Given the description of an element on the screen output the (x, y) to click on. 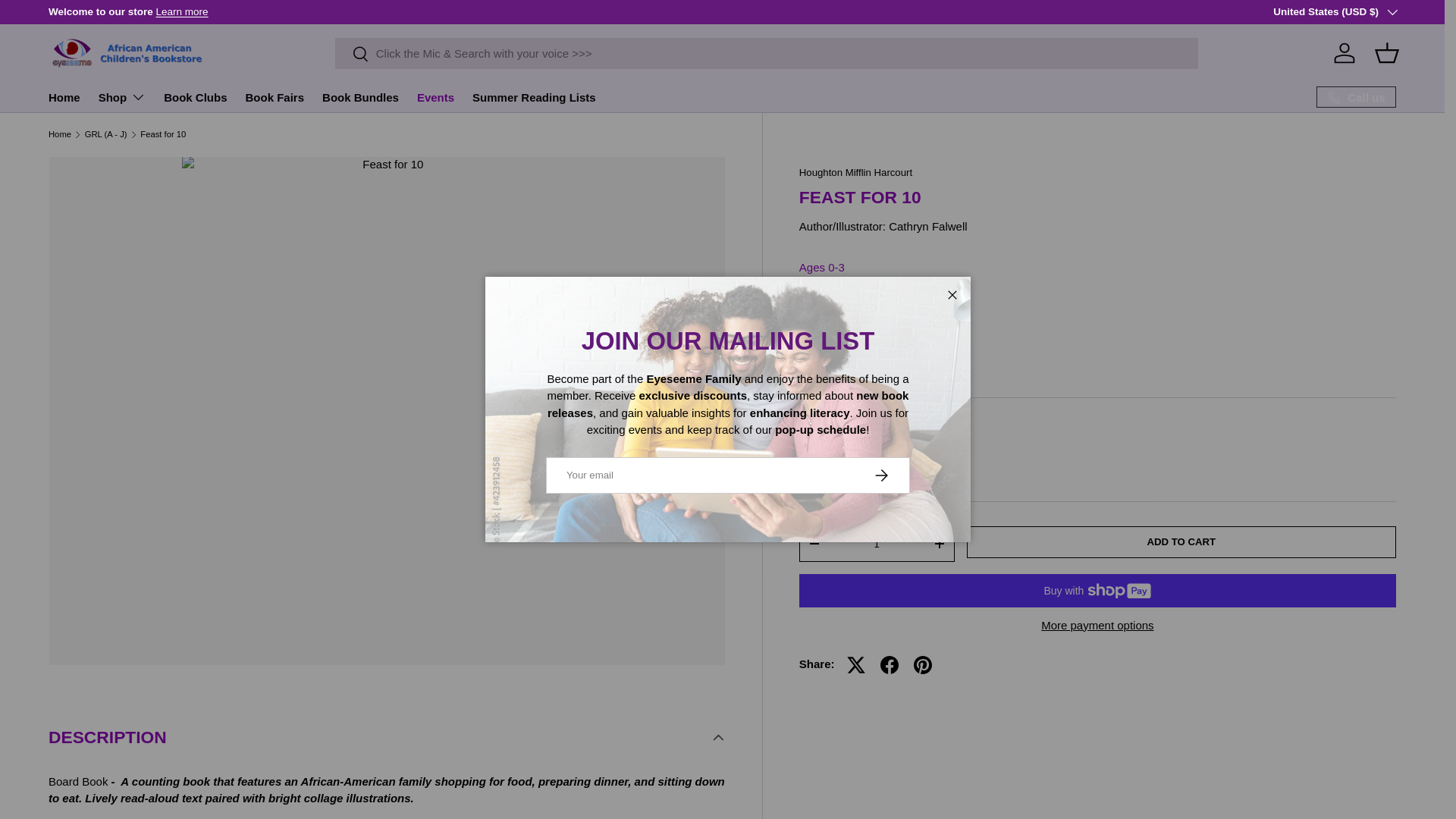
ADD TO CART (1181, 541)
Learn more (1406, 11)
Summer Reading Lists (533, 97)
Shop (123, 96)
Share on Facebook (888, 664)
Search (351, 54)
Call us (1356, 96)
Feast for 10 (162, 134)
Home (64, 97)
Learn more (181, 11)
SKIP TO CONTENT (68, 21)
Book Fairs (275, 97)
Book Bundles (359, 97)
Tweet on X (855, 664)
Pin on Pinterest (922, 664)
